Given the description of an element on the screen output the (x, y) to click on. 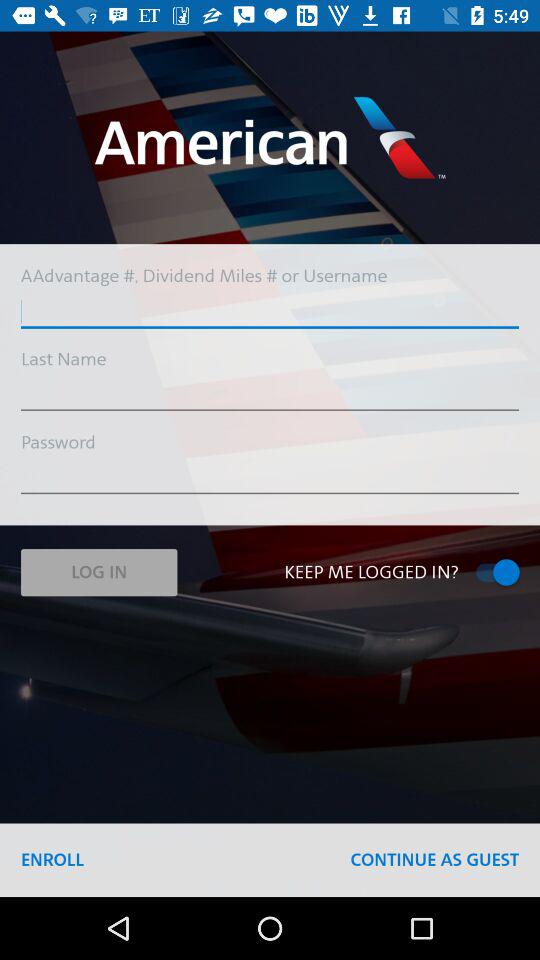
turn on the icon to the right of the enroll item (434, 859)
